Given the description of an element on the screen output the (x, y) to click on. 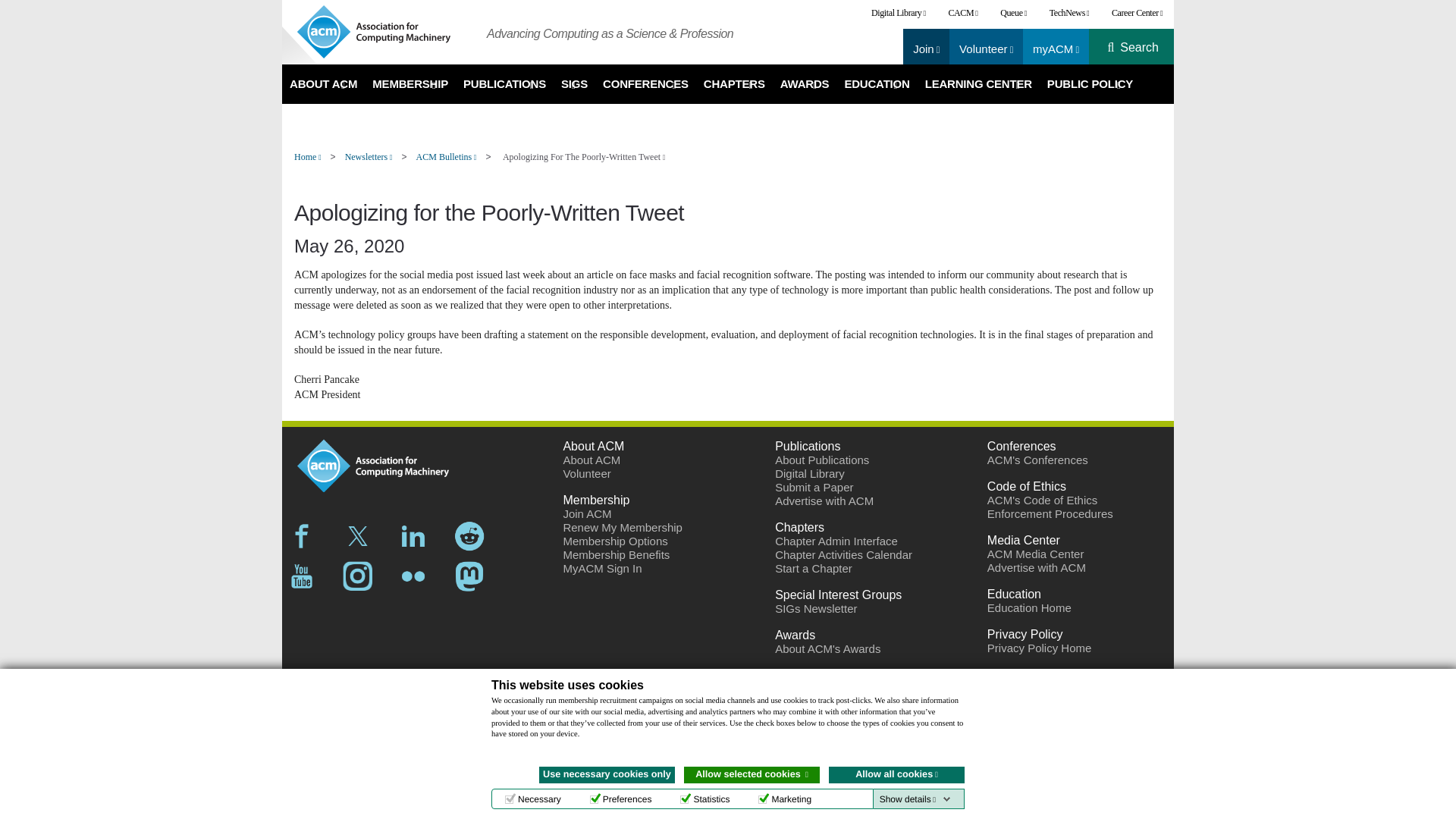
Use necessary cookies only (606, 774)
Allow all cookies (895, 774)
Search (1138, 47)
Show details (914, 799)
Allow selected cookies (751, 774)
Search (1138, 47)
